Given the description of an element on the screen output the (x, y) to click on. 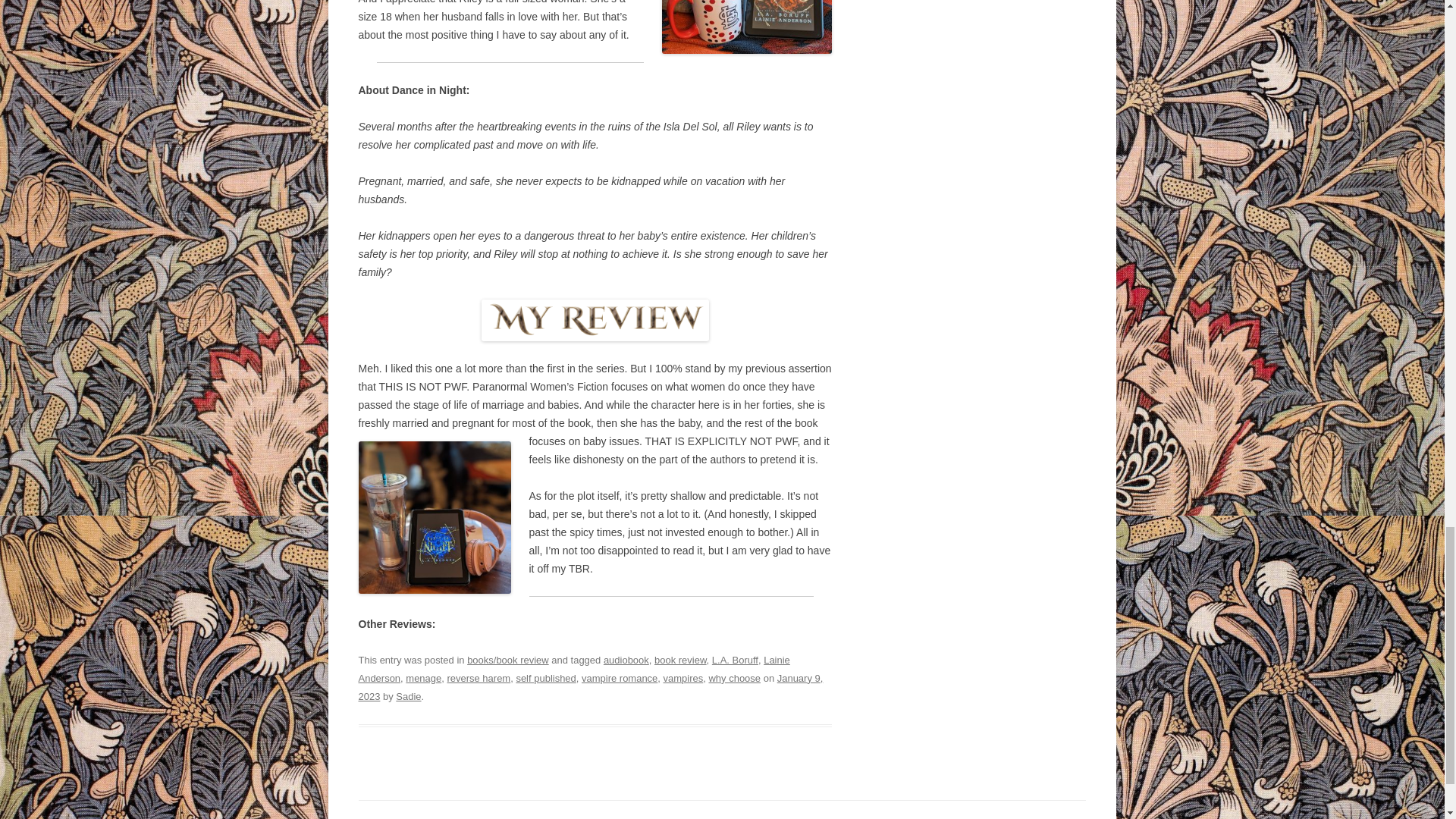
menage (423, 677)
audiobook (626, 659)
January 9, 2023 (590, 686)
self published (545, 677)
book review (679, 659)
vampire romance (619, 677)
reverse harem (478, 677)
Lainie Anderson (573, 668)
Sadie (408, 696)
vampires (683, 677)
L.A. Boruff (734, 659)
View all posts by Sadie (408, 696)
8:51 am (590, 686)
why choose (733, 677)
